Given the description of an element on the screen output the (x, y) to click on. 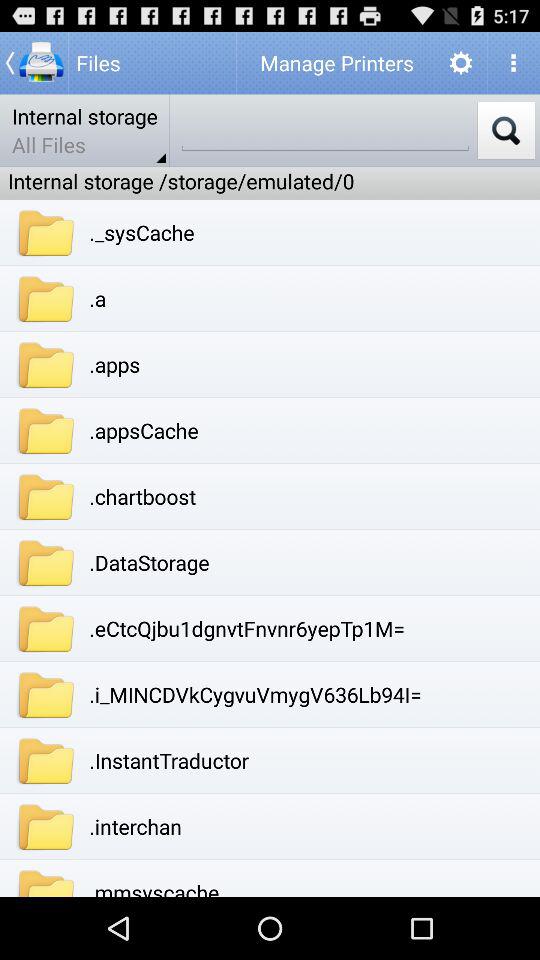
open .appscache item (143, 430)
